Given the description of an element on the screen output the (x, y) to click on. 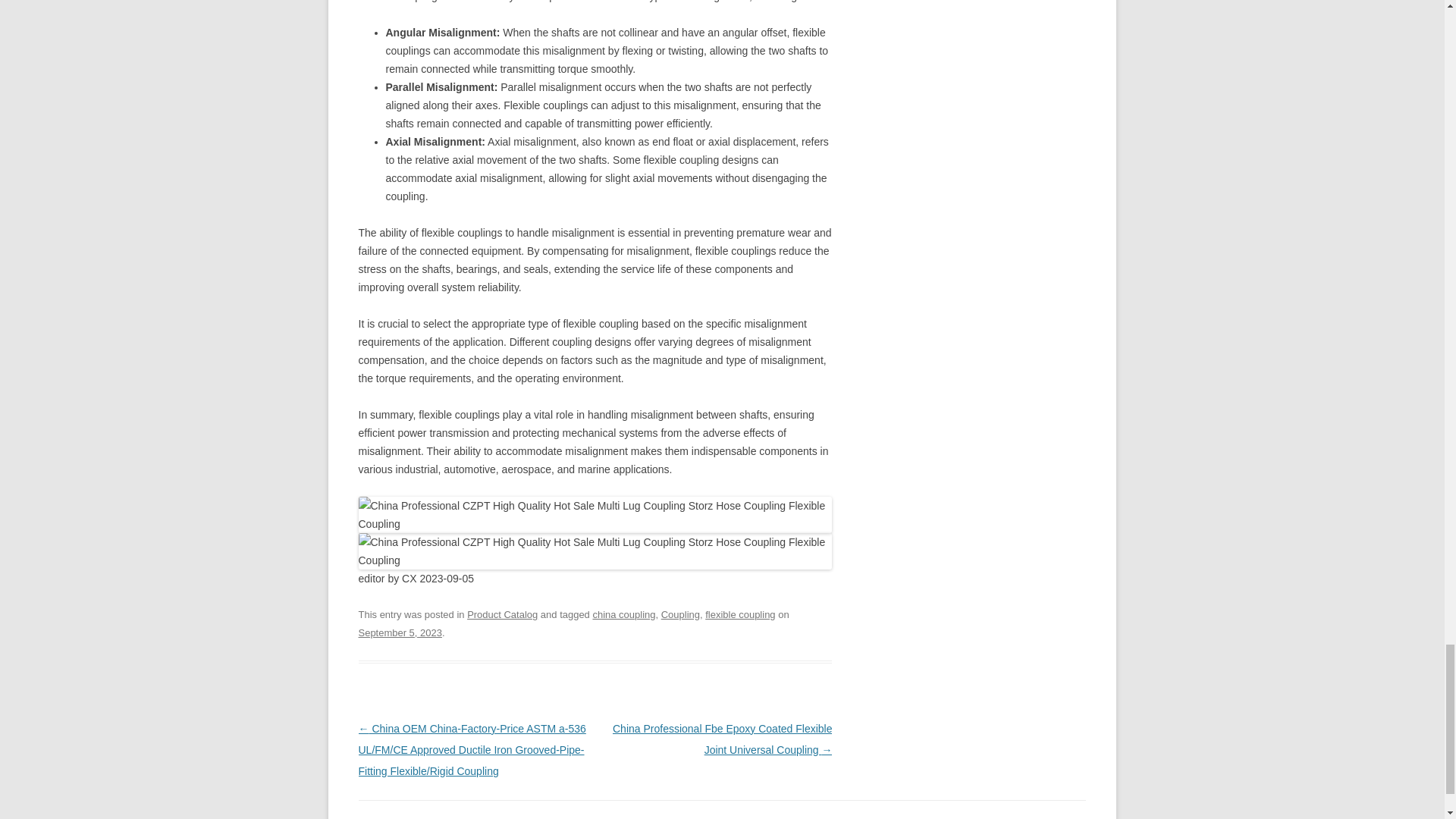
Coupling (680, 614)
china coupling (623, 614)
Product Catalog (502, 614)
September 5, 2023 (399, 632)
1:23 am (399, 632)
flexible coupling (739, 614)
